Given the description of an element on the screen output the (x, y) to click on. 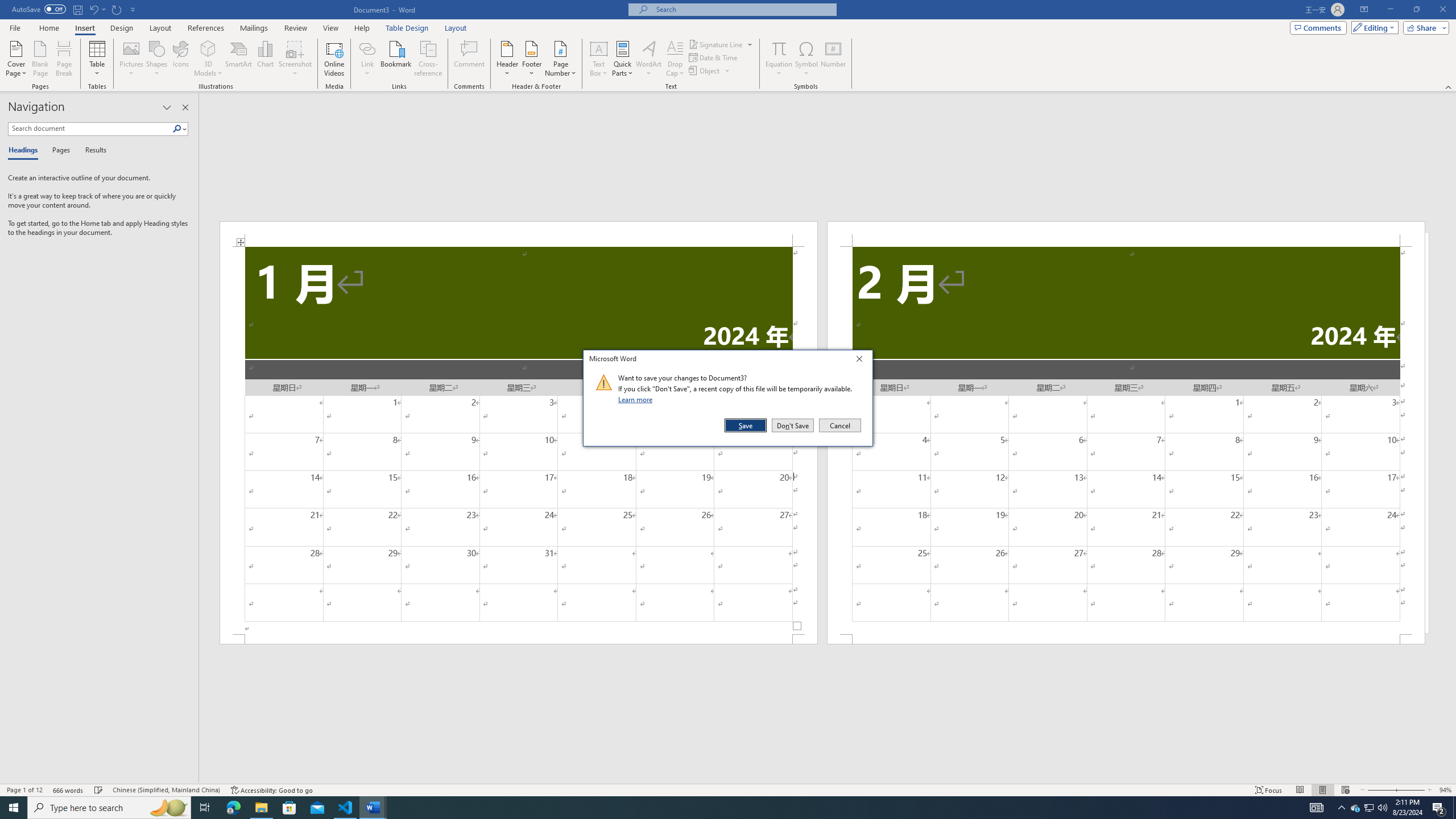
Text Box (598, 58)
Microsoft Store (289, 807)
Class: NetUIScrollBar (827, 778)
Type here to search (108, 807)
Language Chinese (Simplified, Mainland China) (165, 790)
Search (179, 128)
Cross-reference... (428, 58)
Chart... (265, 58)
Icons (180, 58)
Symbol (806, 58)
Page Break (63, 58)
Collapse the Ribbon (1448, 86)
Number... (833, 58)
More Options (778, 68)
